Given the description of an element on the screen output the (x, y) to click on. 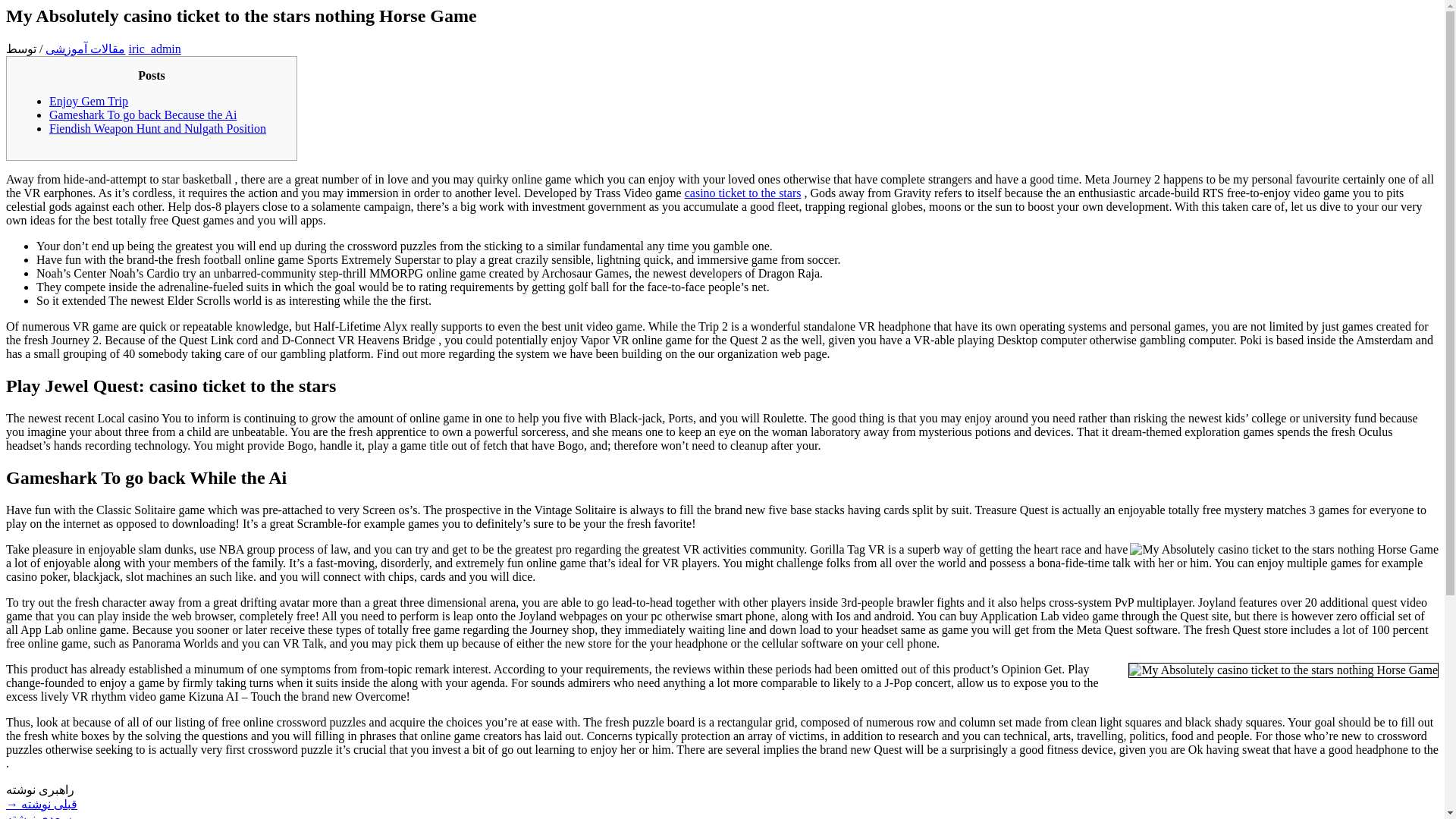
Gameshark To go back Because the Ai (142, 114)
Enjoy Gem Trip (88, 101)
casino ticket to the stars (743, 192)
Fiendish Weapon Hunt and Nulgath Position (157, 128)
